Given the description of an element on the screen output the (x, y) to click on. 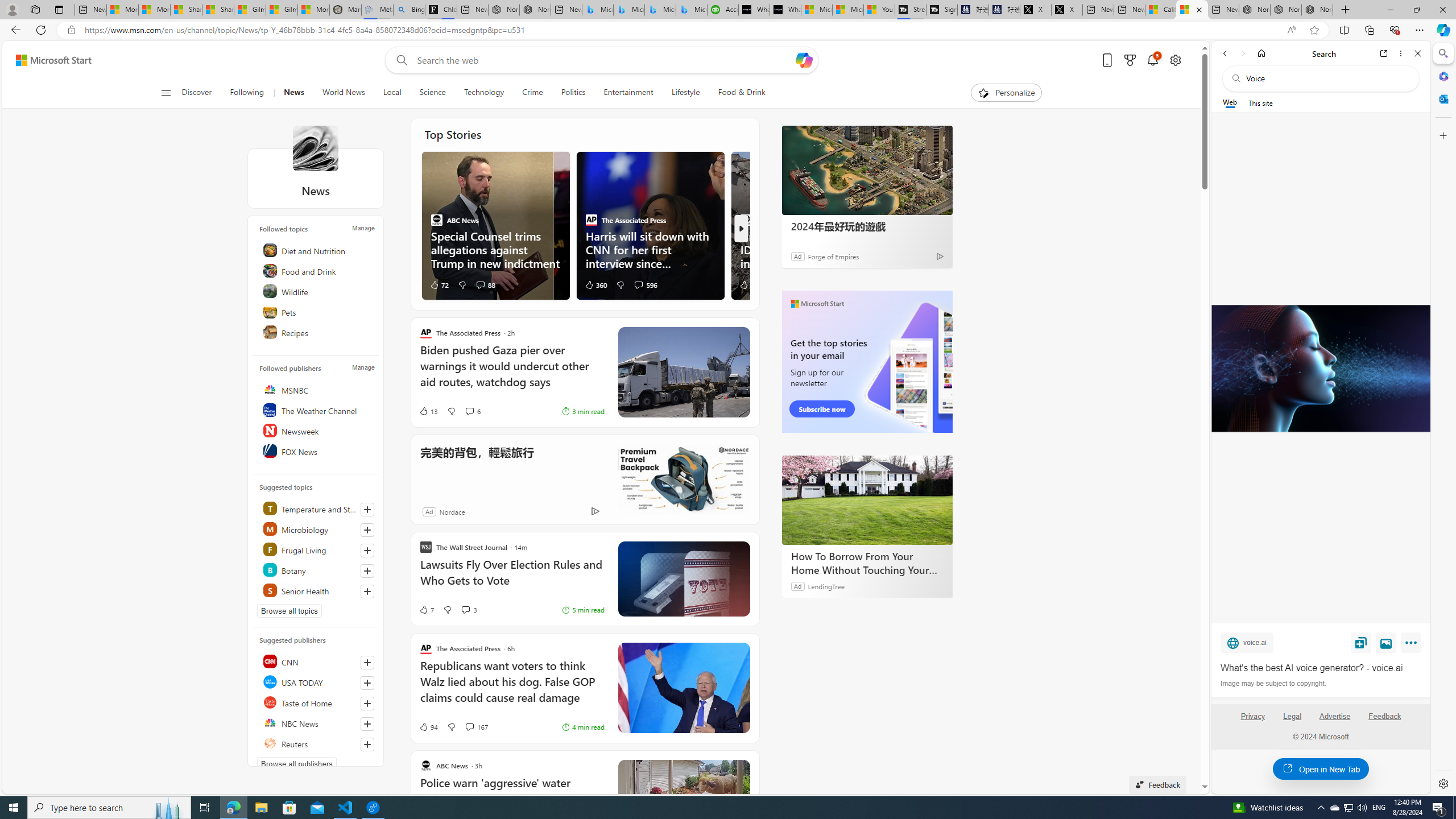
News - MSN (1192, 9)
Crime (531, 92)
Save (1361, 642)
World News (343, 92)
LendingTree (826, 586)
View comments 88 Comment (484, 284)
Microsoft Start Sports (816, 9)
This site scope (1259, 102)
MSNBC (317, 389)
